Given the description of an element on the screen output the (x, y) to click on. 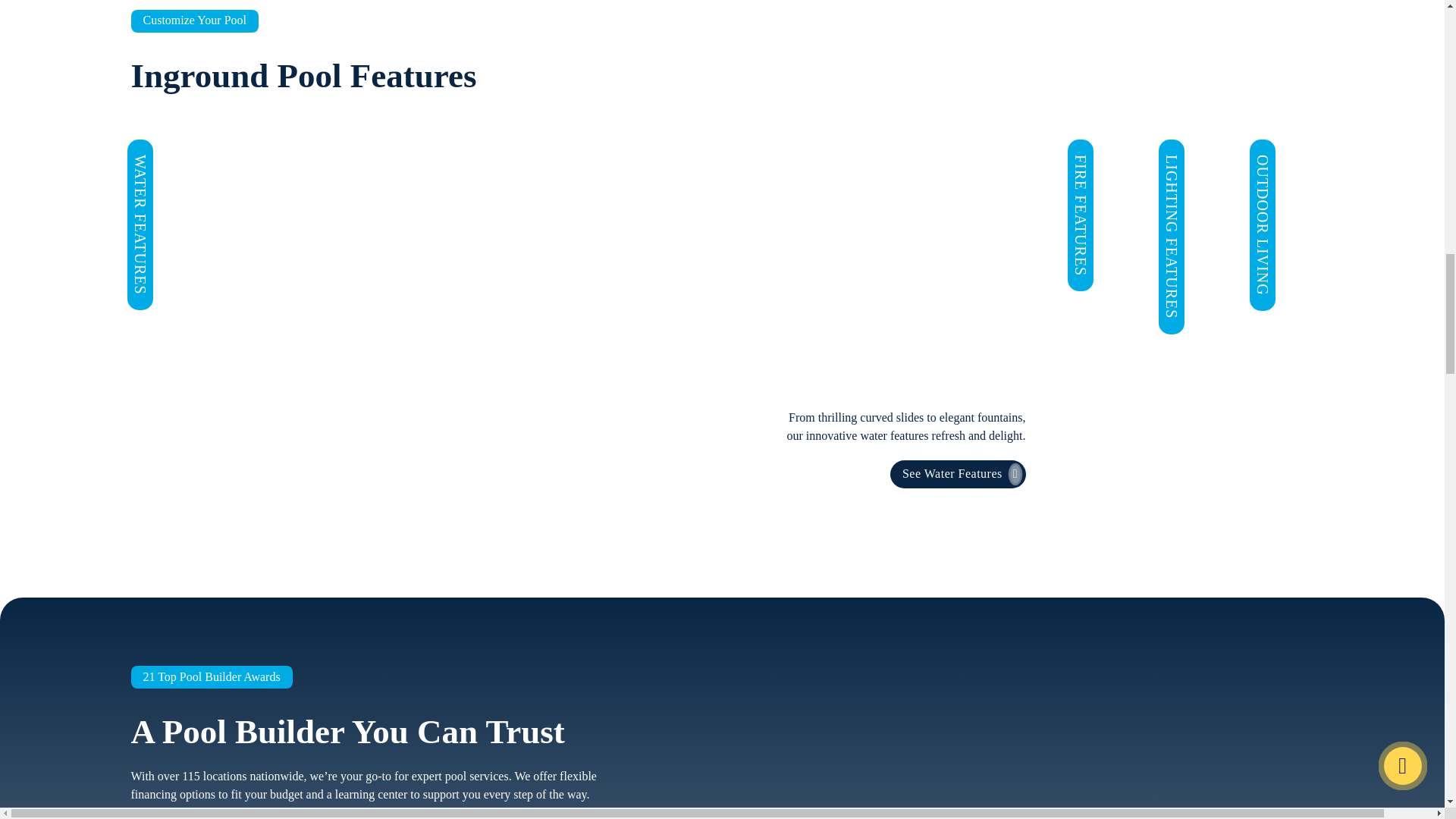
Pool water features (957, 473)
